Given the description of an element on the screen output the (x, y) to click on. 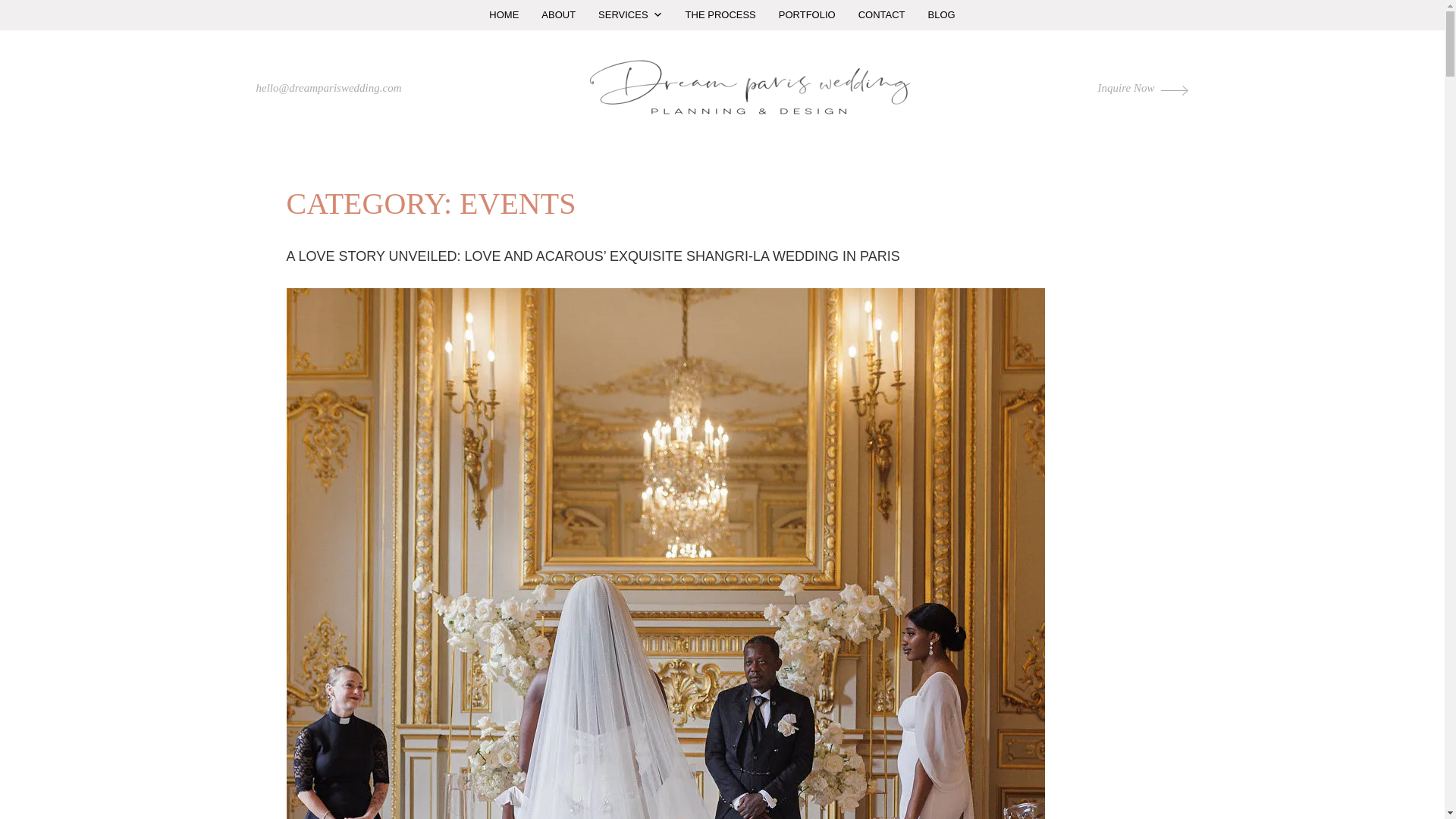
ABOUT (557, 15)
THE PROCESS (720, 15)
CONTACT (882, 15)
PORTFOLIO (807, 15)
SERVICES (630, 15)
BLOG (941, 15)
Inquire Now (1143, 87)
HOME (503, 15)
